Given the description of an element on the screen output the (x, y) to click on. 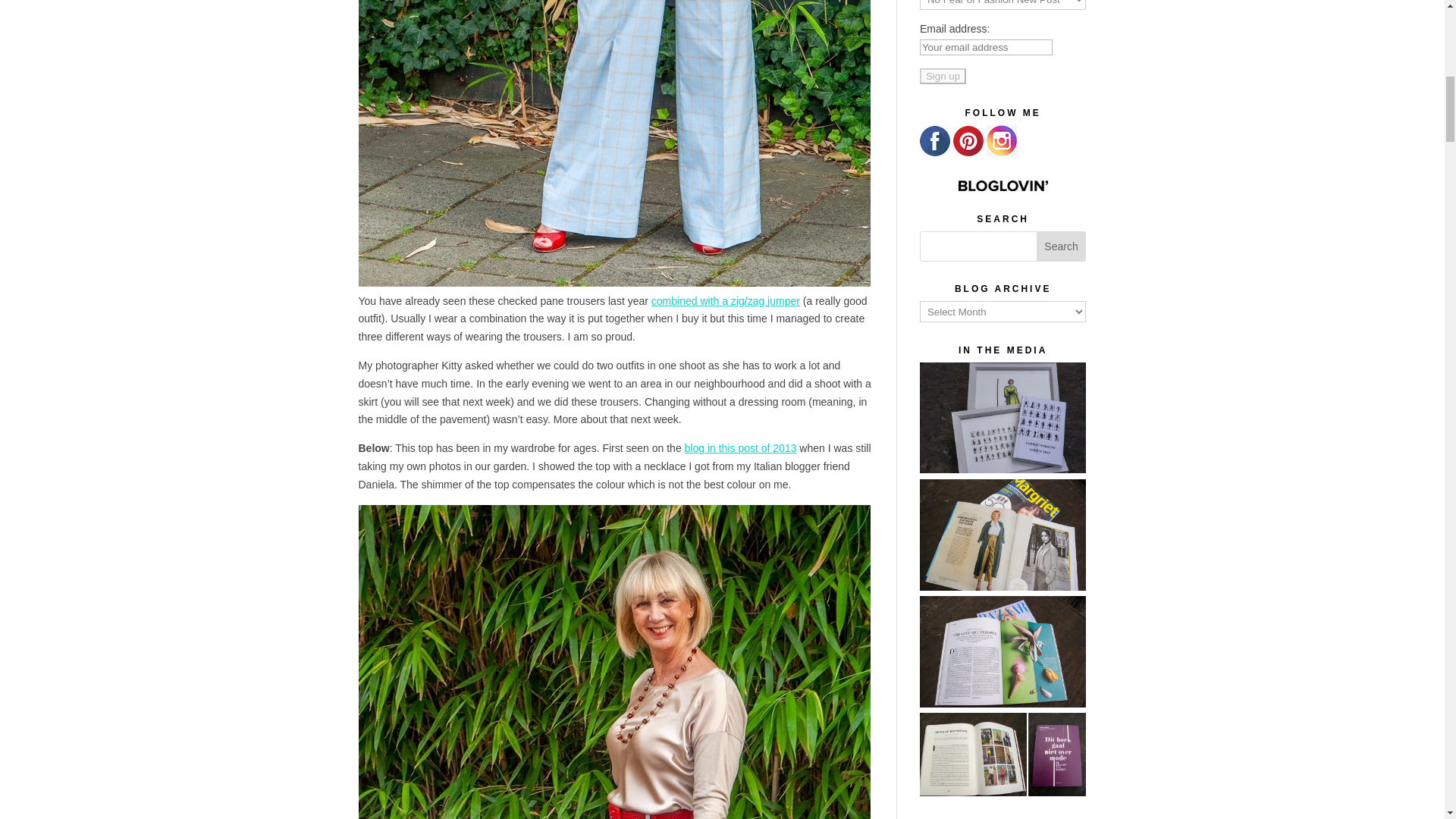
Follow No Fear of Fashion on Bloglovin (1003, 185)
Sign up (943, 75)
blog in this post of 2013 (740, 448)
Search (1061, 245)
